Given the description of an element on the screen output the (x, y) to click on. 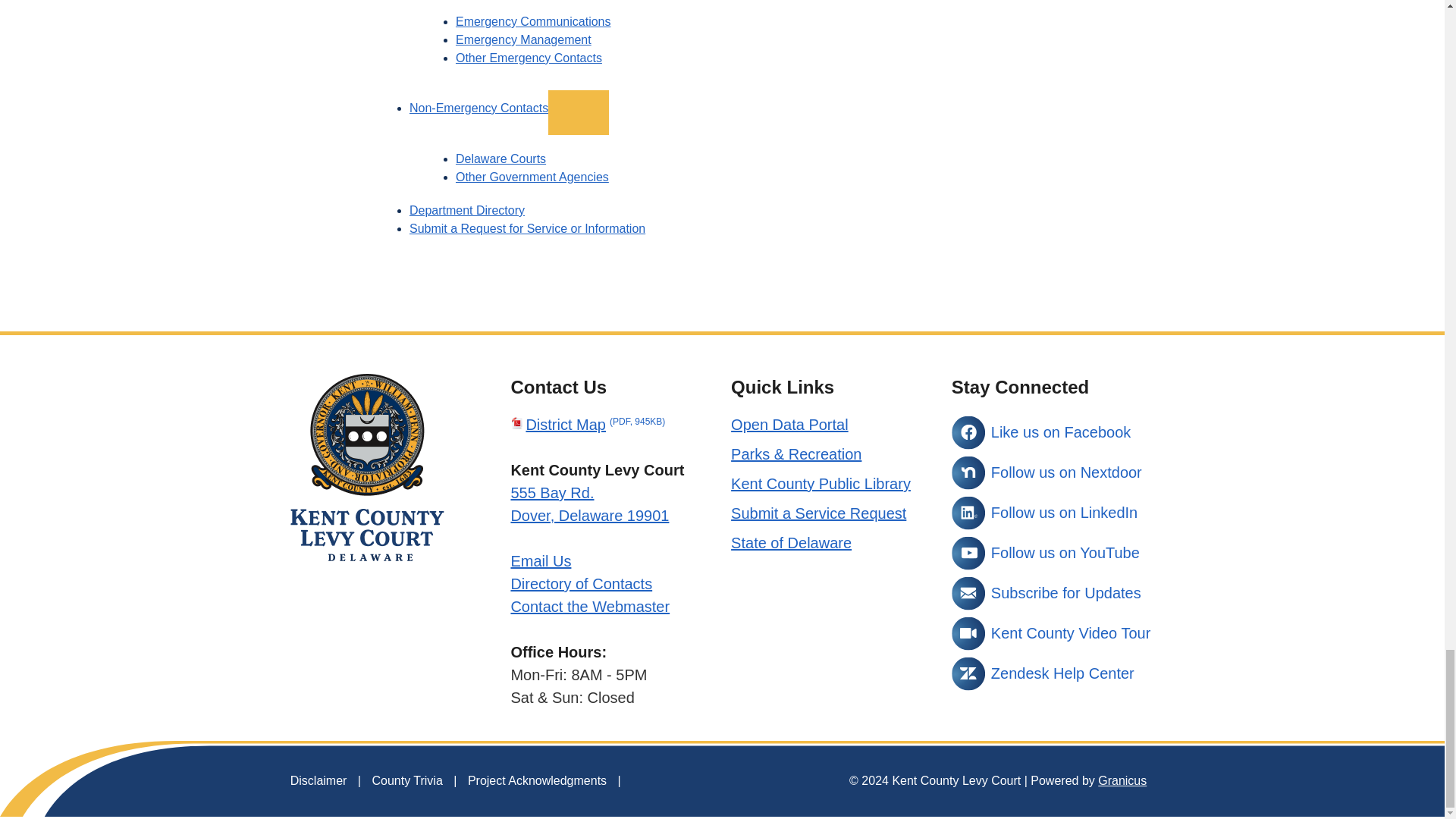
Contact the Webmaster (590, 606)
2023-LC-Districts-Map.pdf (588, 424)
Email Us (540, 560)
